Given the description of an element on the screen output the (x, y) to click on. 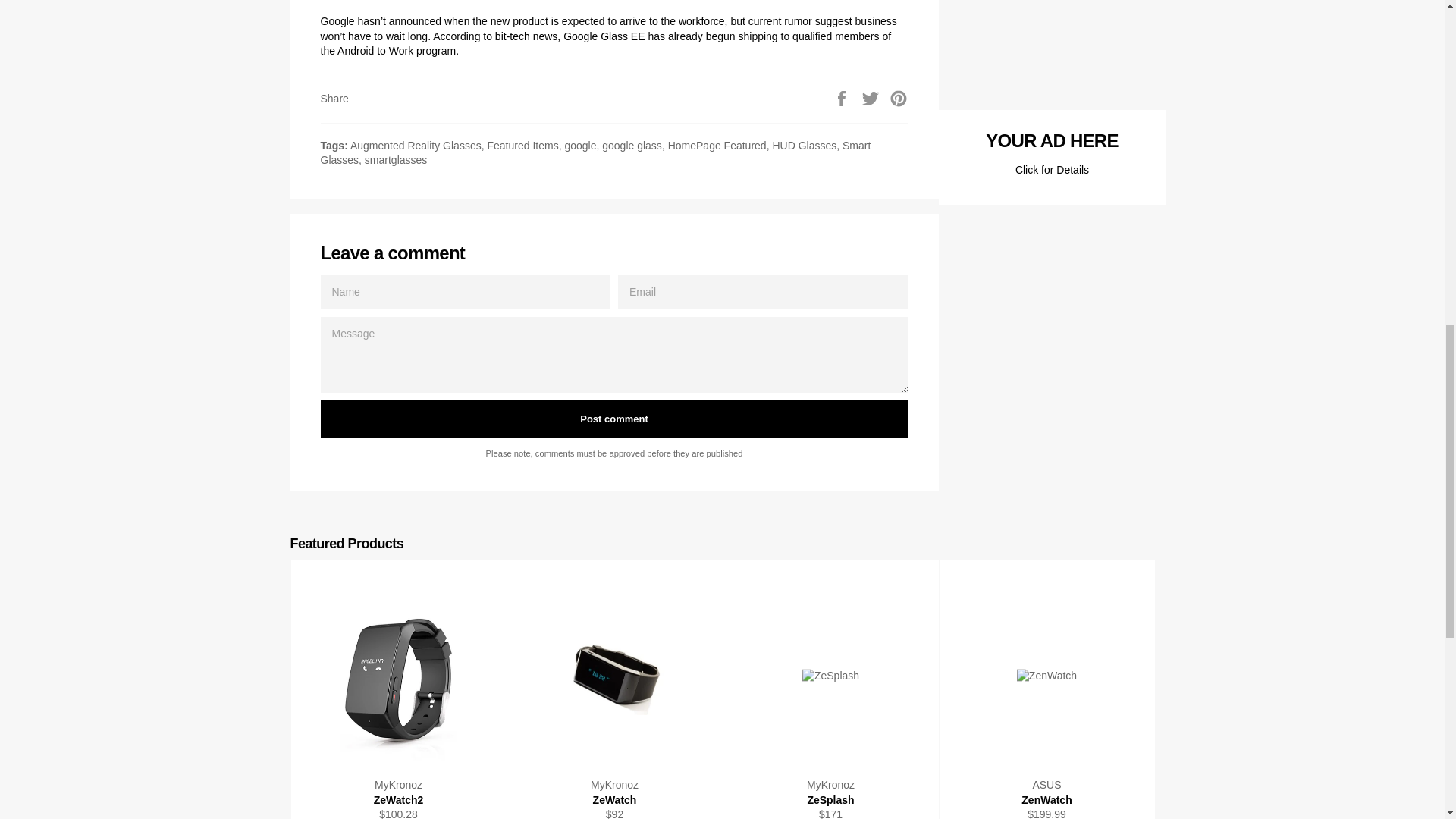
Tweet on Twitter (871, 97)
Post comment (613, 419)
Share on Facebook (842, 97)
Pin on Pinterest (898, 97)
